Given the description of an element on the screen output the (x, y) to click on. 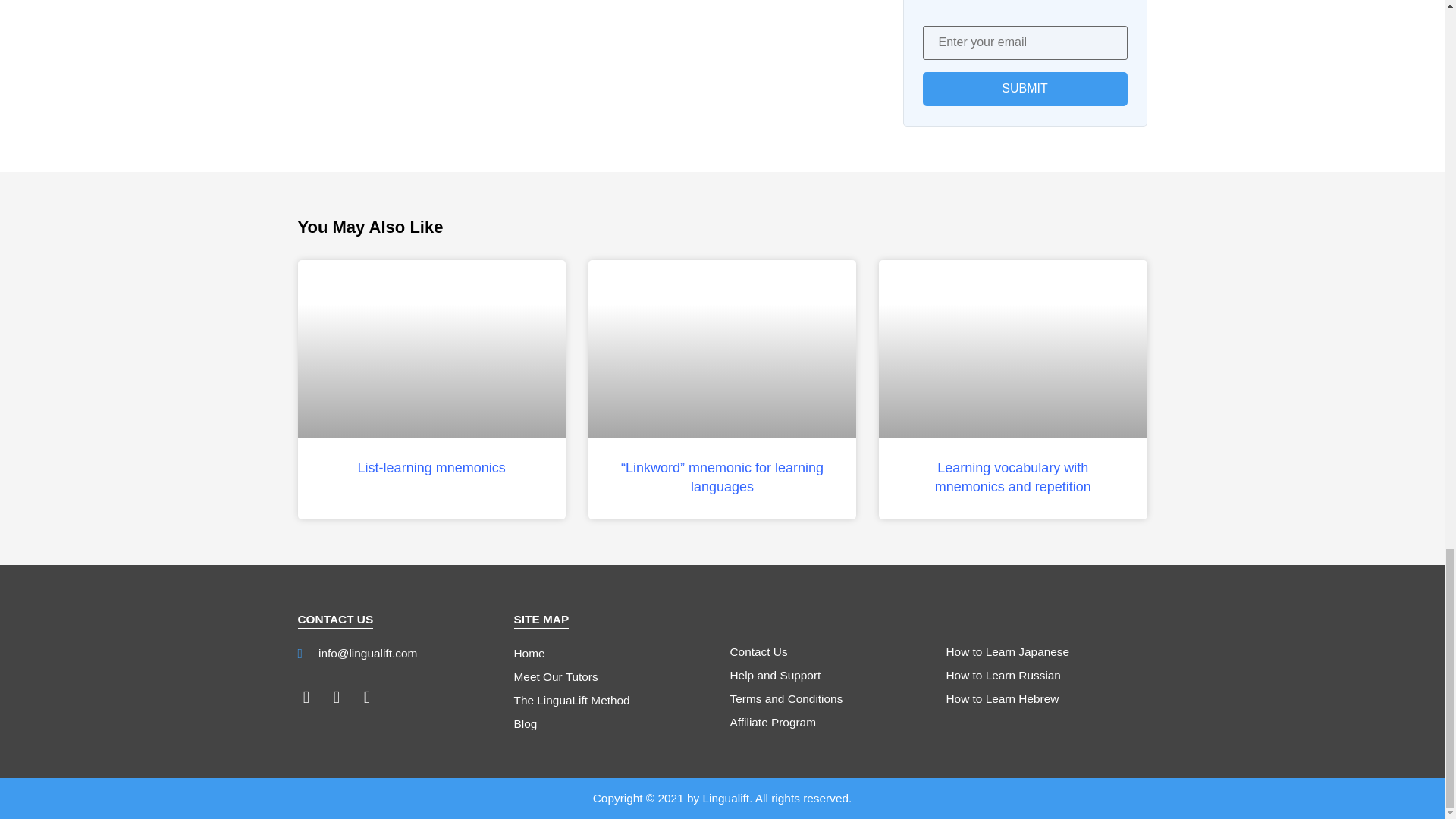
Submit (1023, 89)
Submit (1023, 89)
List-learning mnemonics (431, 467)
